Given the description of an element on the screen output the (x, y) to click on. 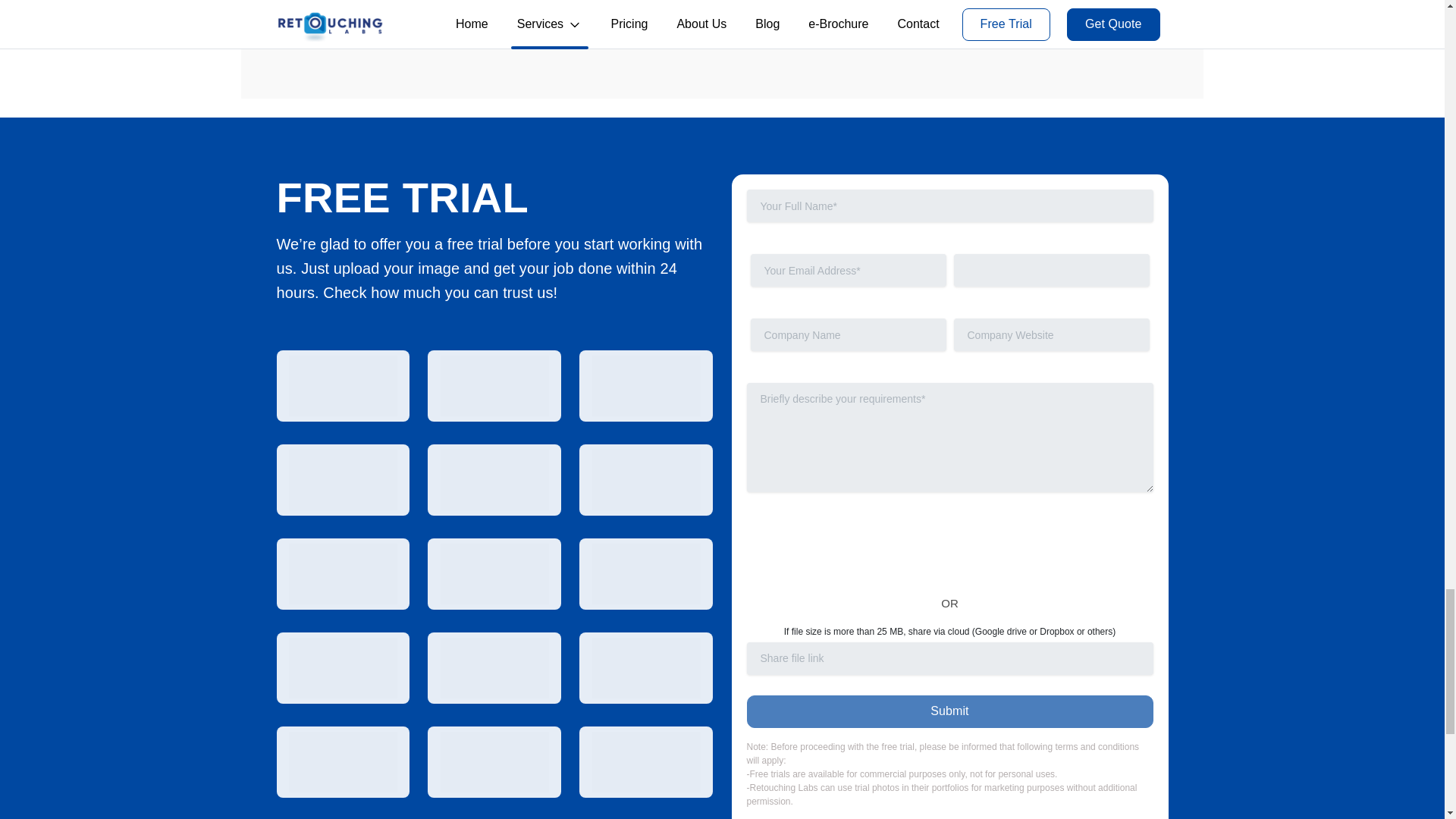
Submit (949, 710)
Post Comment (337, 31)
